Given the description of an element on the screen output the (x, y) to click on. 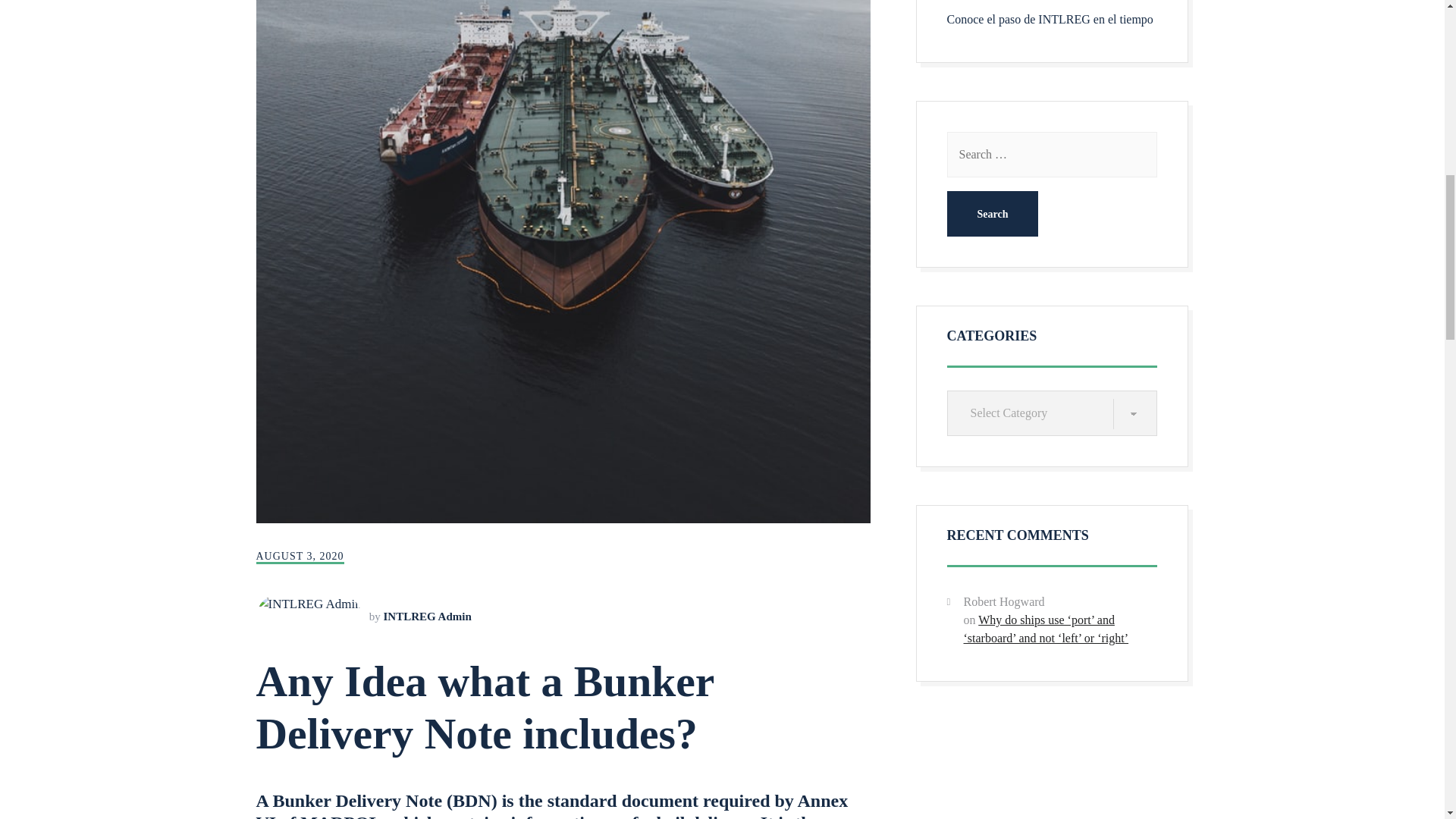
Search (992, 213)
Search (992, 213)
